Given the description of an element on the screen output the (x, y) to click on. 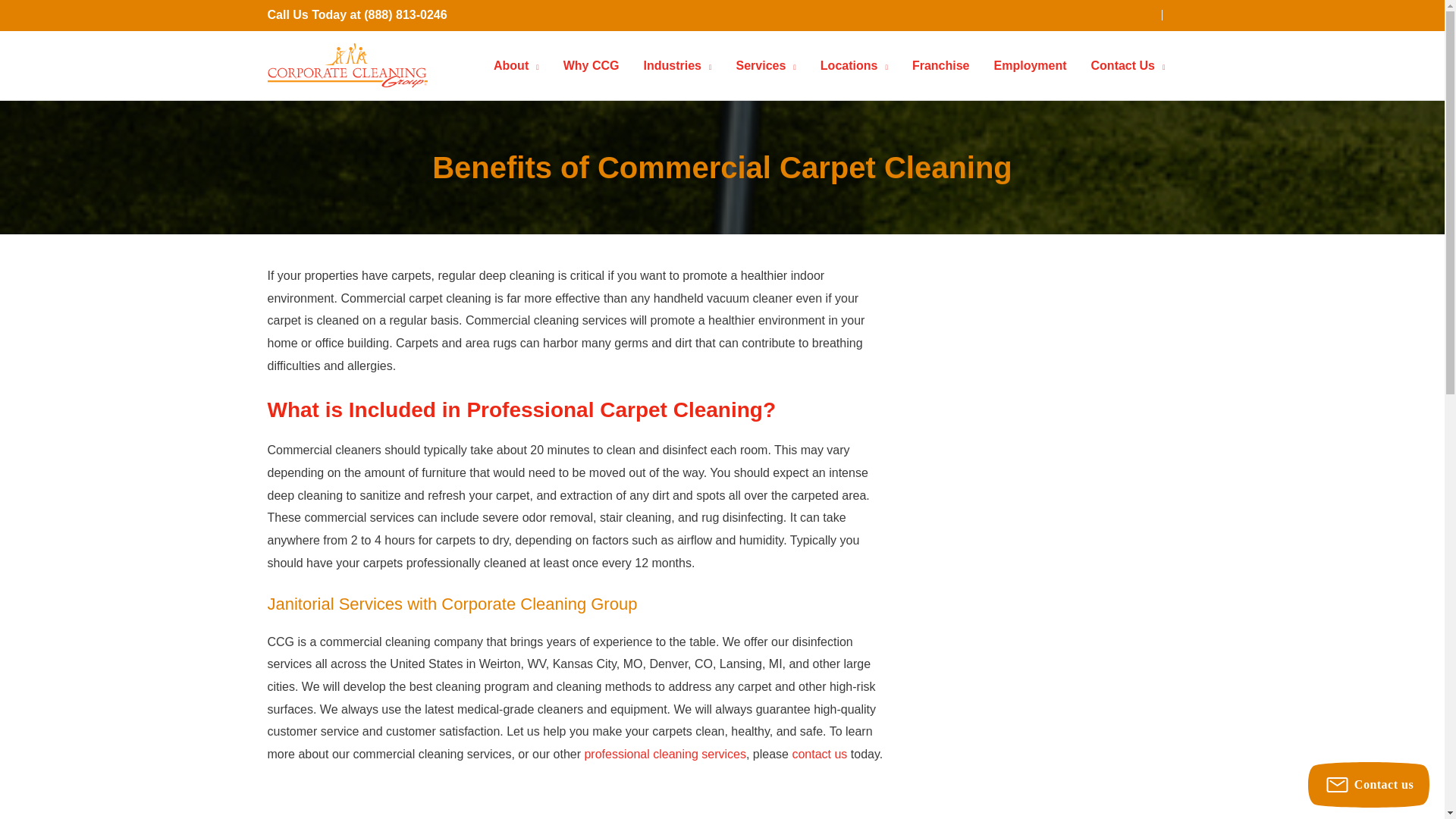
About (516, 65)
Industries (676, 65)
Why CCG (591, 65)
Locations (853, 65)
Services (765, 65)
